Given the description of an element on the screen output the (x, y) to click on. 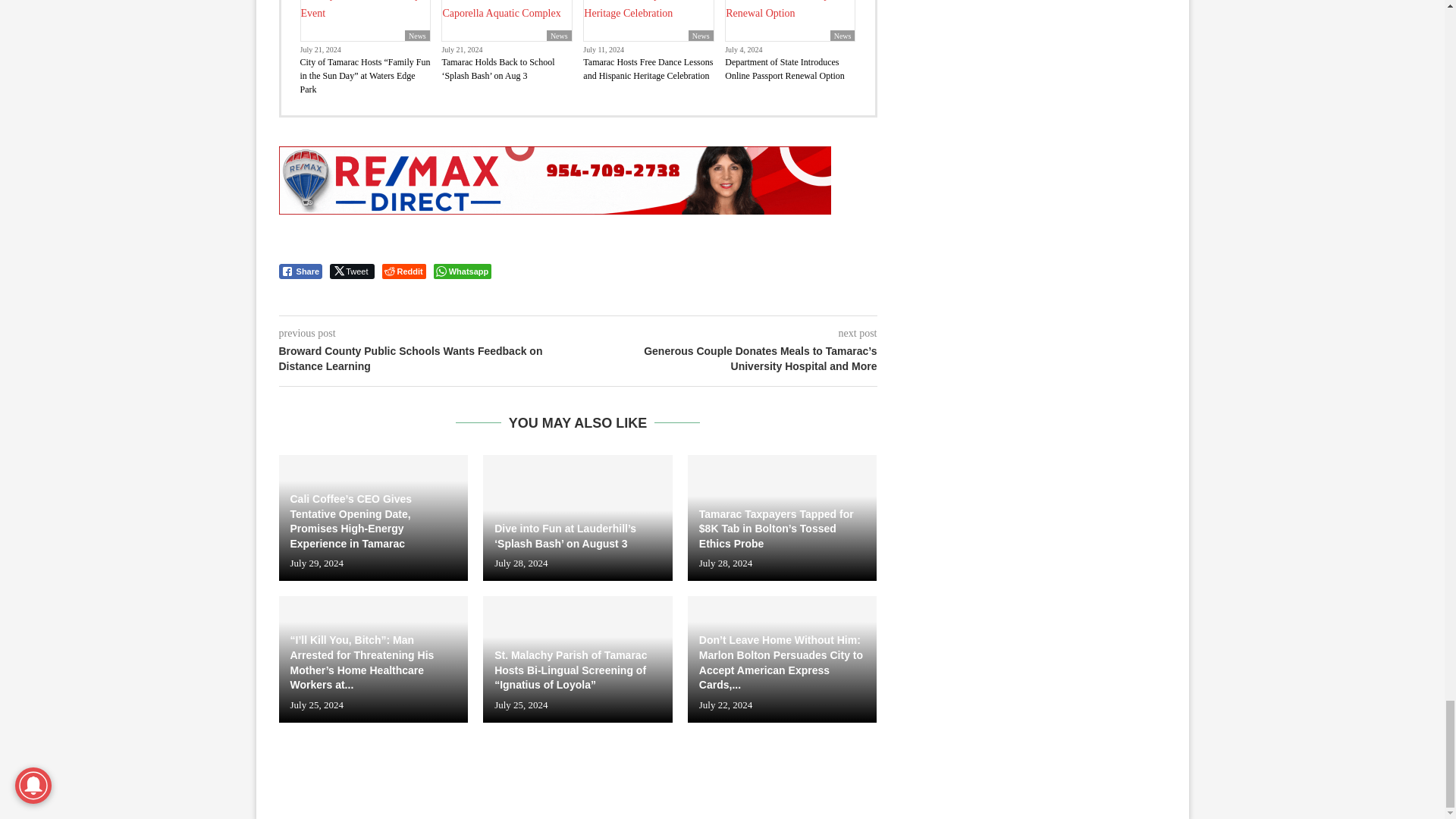
Tamarac Holds Back to School 'Splash Bash' on Aug 3 3 (506, 20)
